Given the description of an element on the screen output the (x, y) to click on. 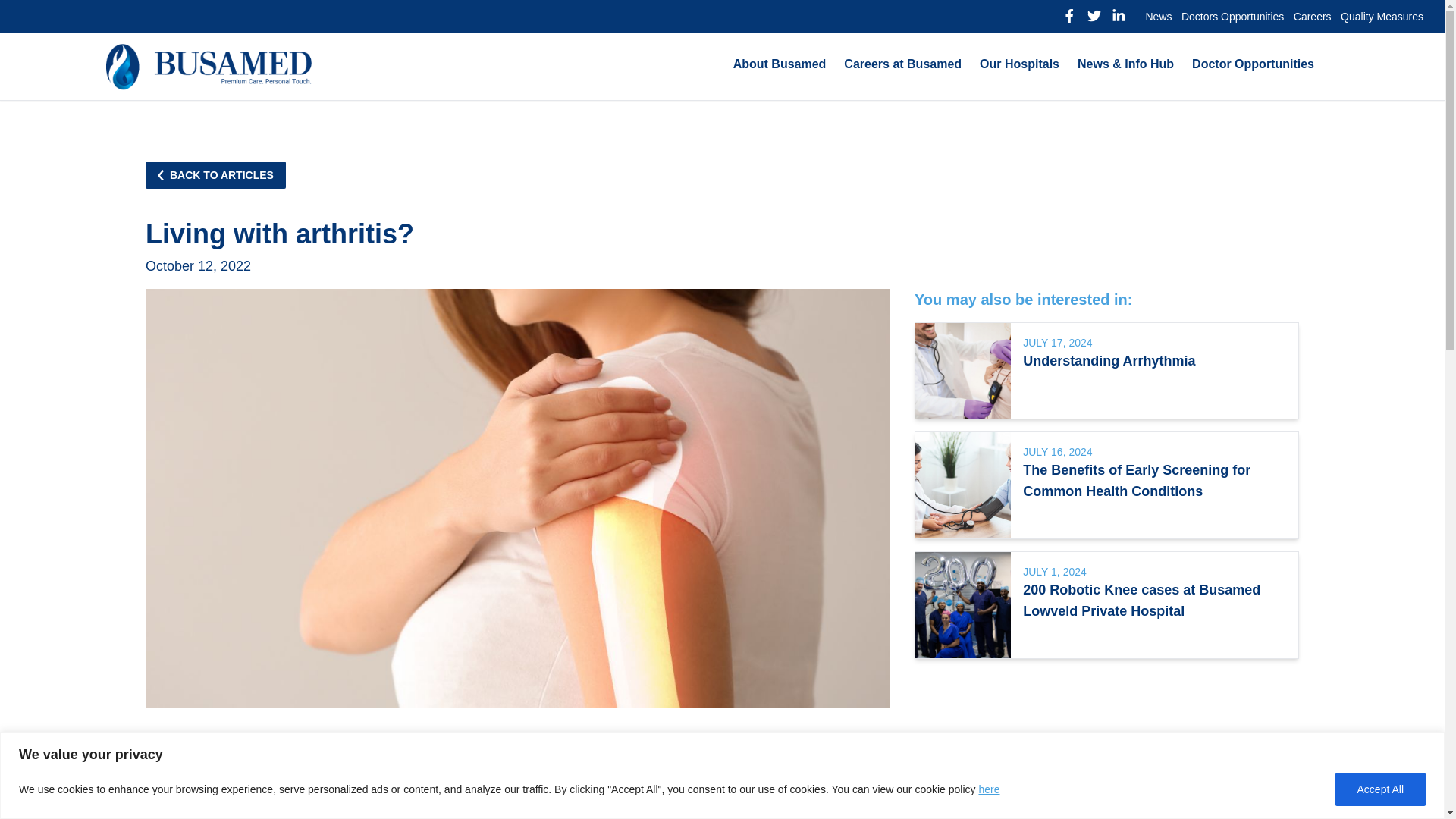
Quality Measures (1382, 16)
Doctor Opportunities (1253, 65)
About Busamed (780, 65)
Accept All (1380, 788)
here (988, 788)
BACK TO ARTICLES (215, 175)
Careers (1312, 16)
News (1157, 16)
Our Hospitals (1019, 65)
Careers at Busamed (902, 65)
Doctors Opportunities (1232, 16)
